Given the description of an element on the screen output the (x, y) to click on. 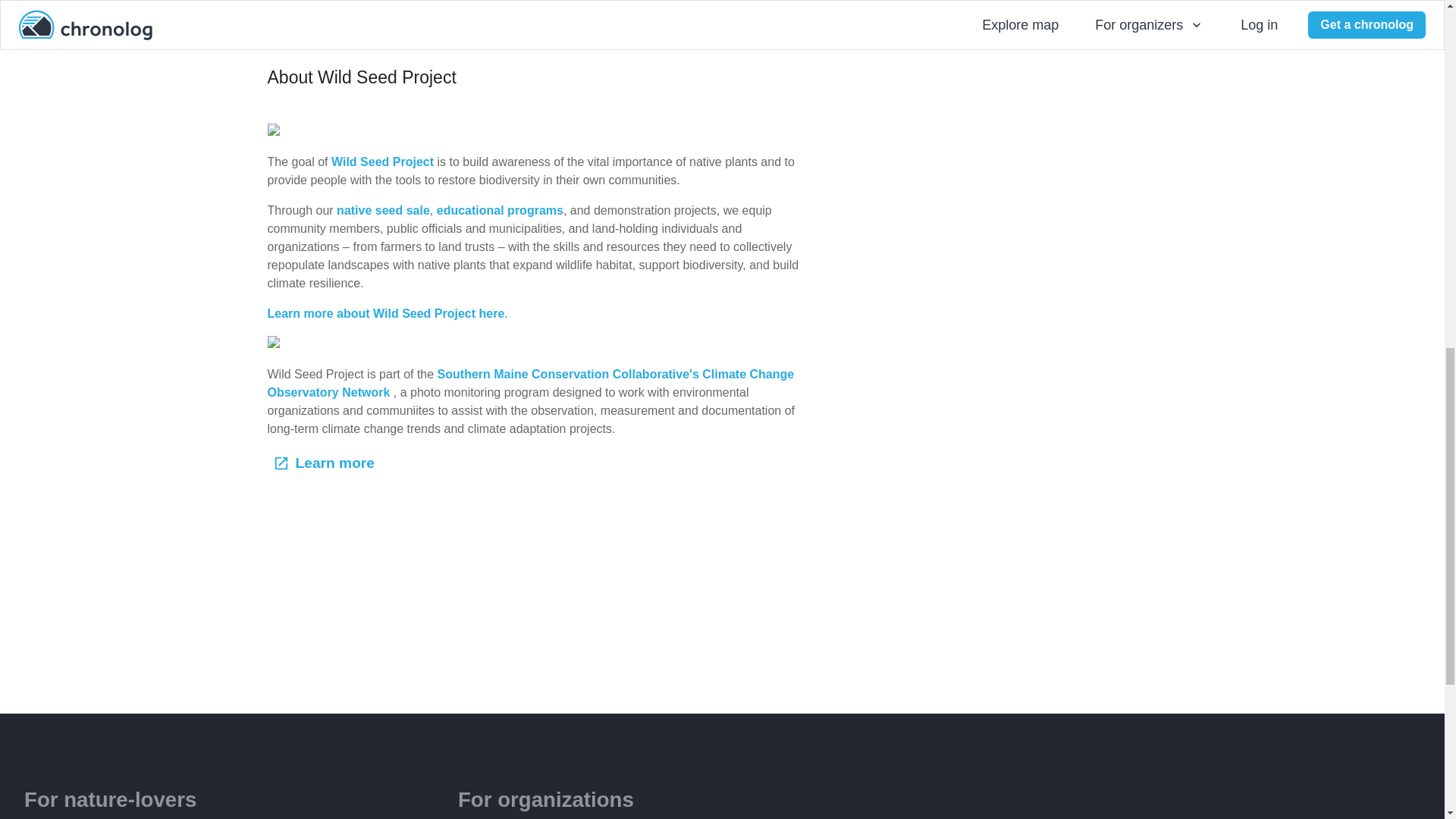
native seed sale (382, 210)
educational programs (499, 210)
Learn more about Wild Seed Project here (384, 313)
Learn more about Wild Seed Project's work here. (407, 16)
Learn more (324, 463)
Learn more (324, 462)
Wild Seed Project (382, 161)
